Given the description of an element on the screen output the (x, y) to click on. 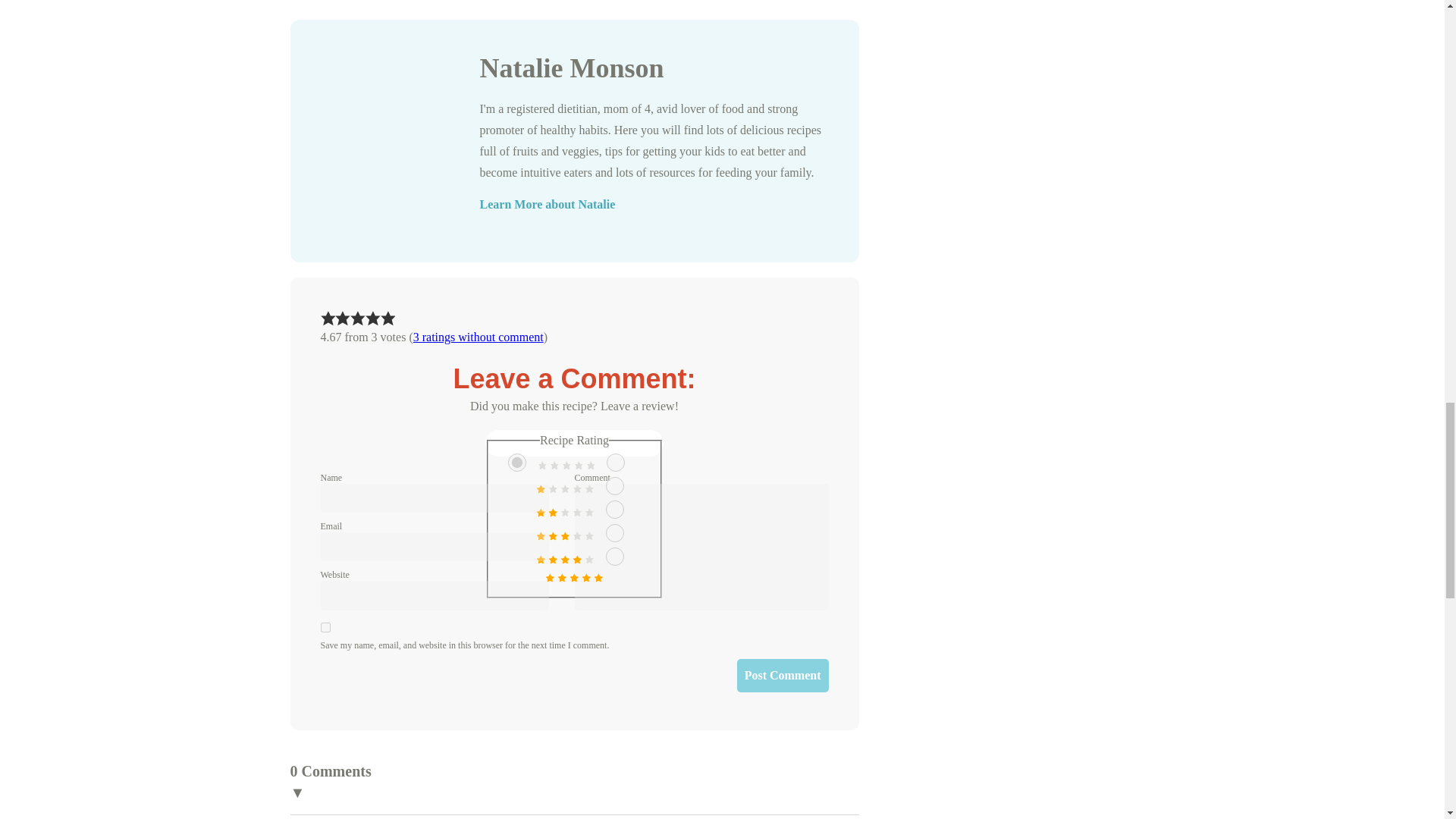
3 (614, 509)
5 (614, 556)
0 (516, 462)
2 (614, 485)
4 (614, 533)
Post Comment (782, 675)
1 (615, 462)
yes (325, 627)
